Given the description of an element on the screen output the (x, y) to click on. 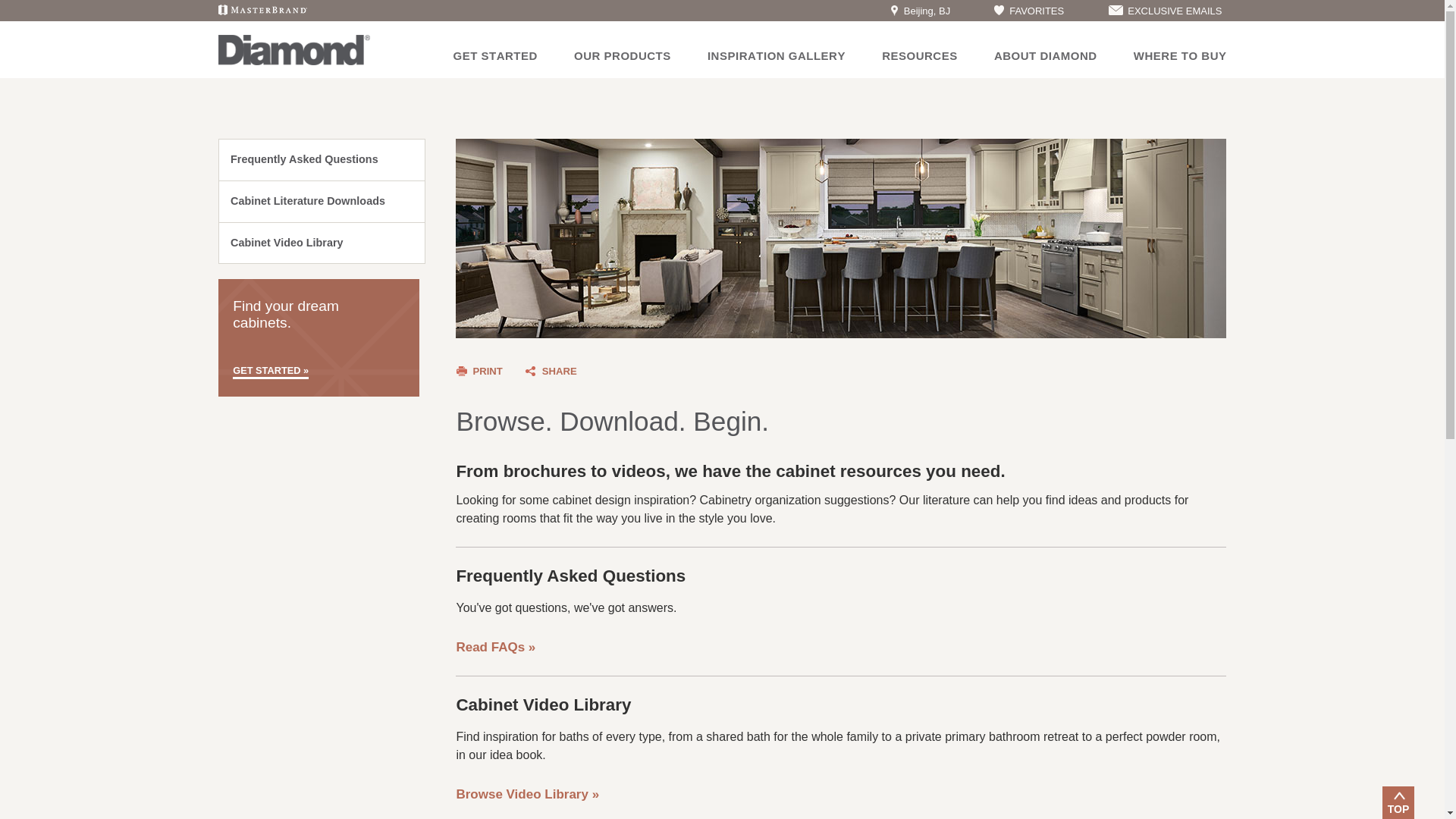
Cabinet Video Library (322, 242)
ABOUT DIAMOND (1045, 55)
Cabinet Literature Downloads (322, 200)
RESOURCES (920, 55)
Frequently Asked Questions (322, 159)
INSPIRATION GALLERY (776, 55)
GET STARTED (494, 55)
Beijing, BJ (920, 10)
FAVORITES (1028, 10)
Back to top (1397, 802)
